Given the description of an element on the screen output the (x, y) to click on. 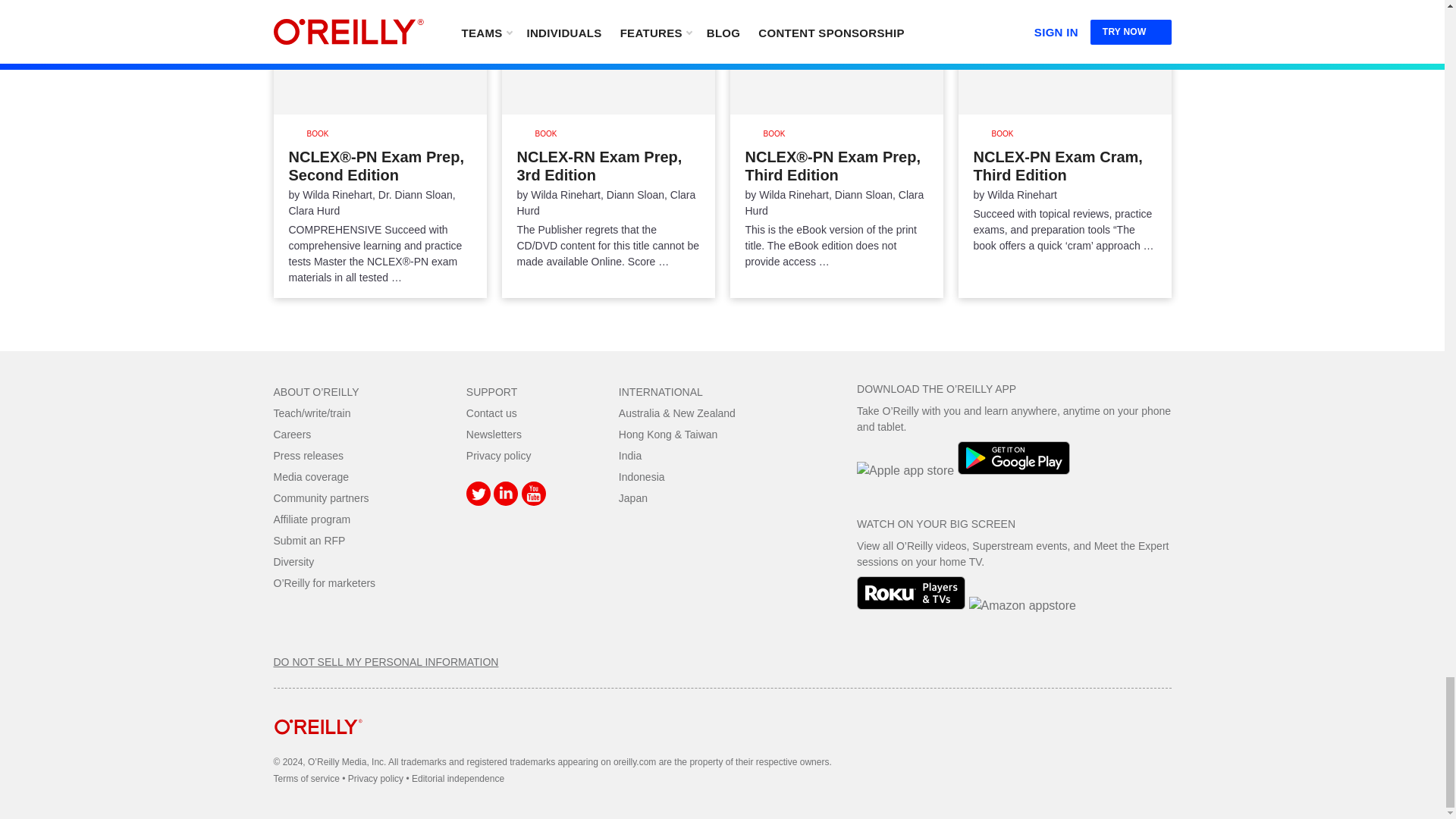
home page (317, 745)
